Given the description of an element on the screen output the (x, y) to click on. 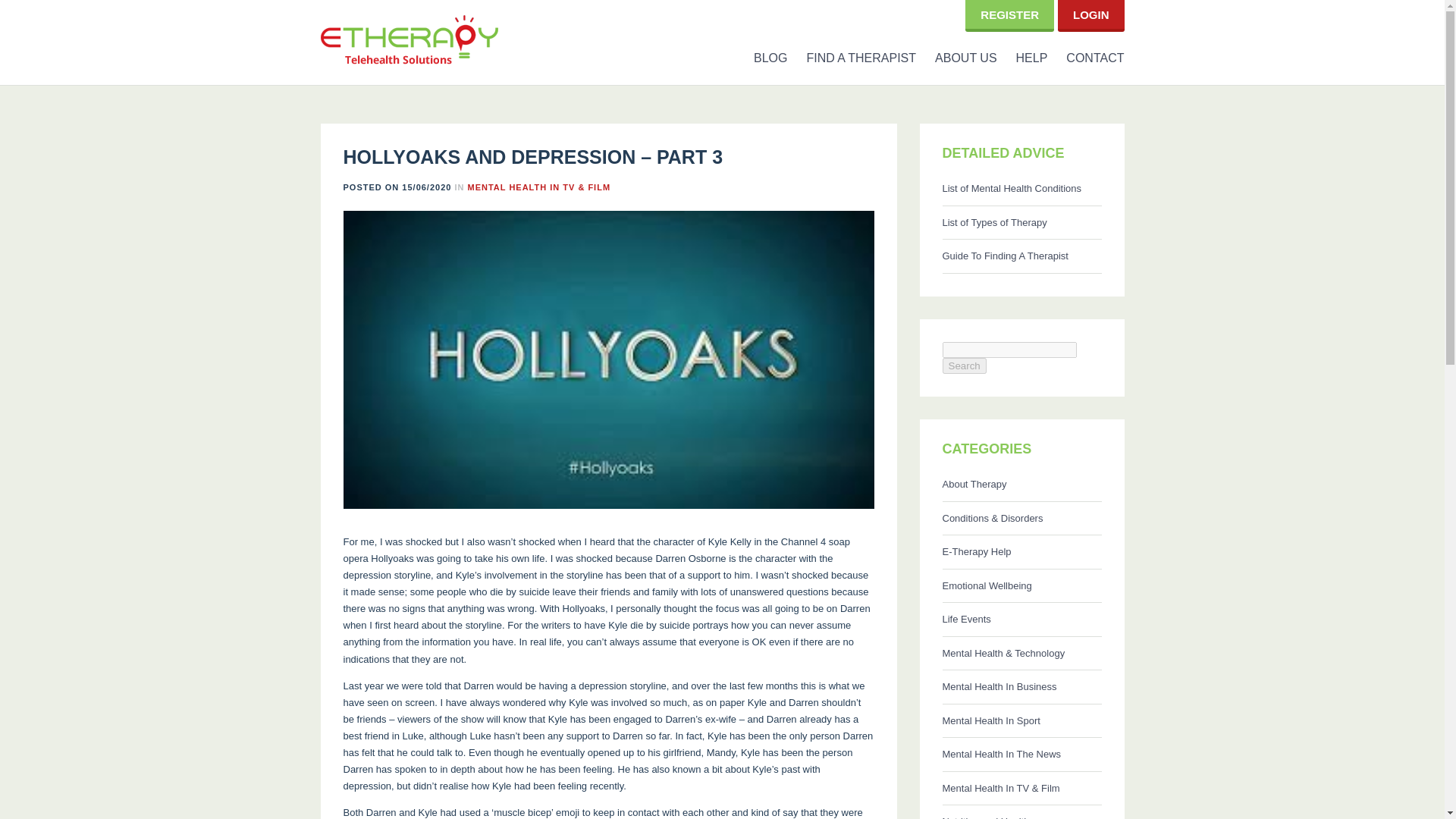
List of Mental Health Conditions (1021, 188)
About Therapy (1021, 484)
Nutrition and Health (1021, 812)
Mental Health In Business (1021, 687)
Guide To Finding A Therapist (1021, 256)
Mental Health In Sport (1021, 720)
Emotional Wellbeing (1021, 585)
CONTACT (1085, 58)
Search (963, 365)
LOGIN (1091, 14)
FIND A THERAPIST (851, 58)
Life Events (1021, 619)
E-Therapy Help (1021, 552)
BLOG (761, 58)
List of Types of Therapy (1021, 223)
